Given the description of an element on the screen output the (x, y) to click on. 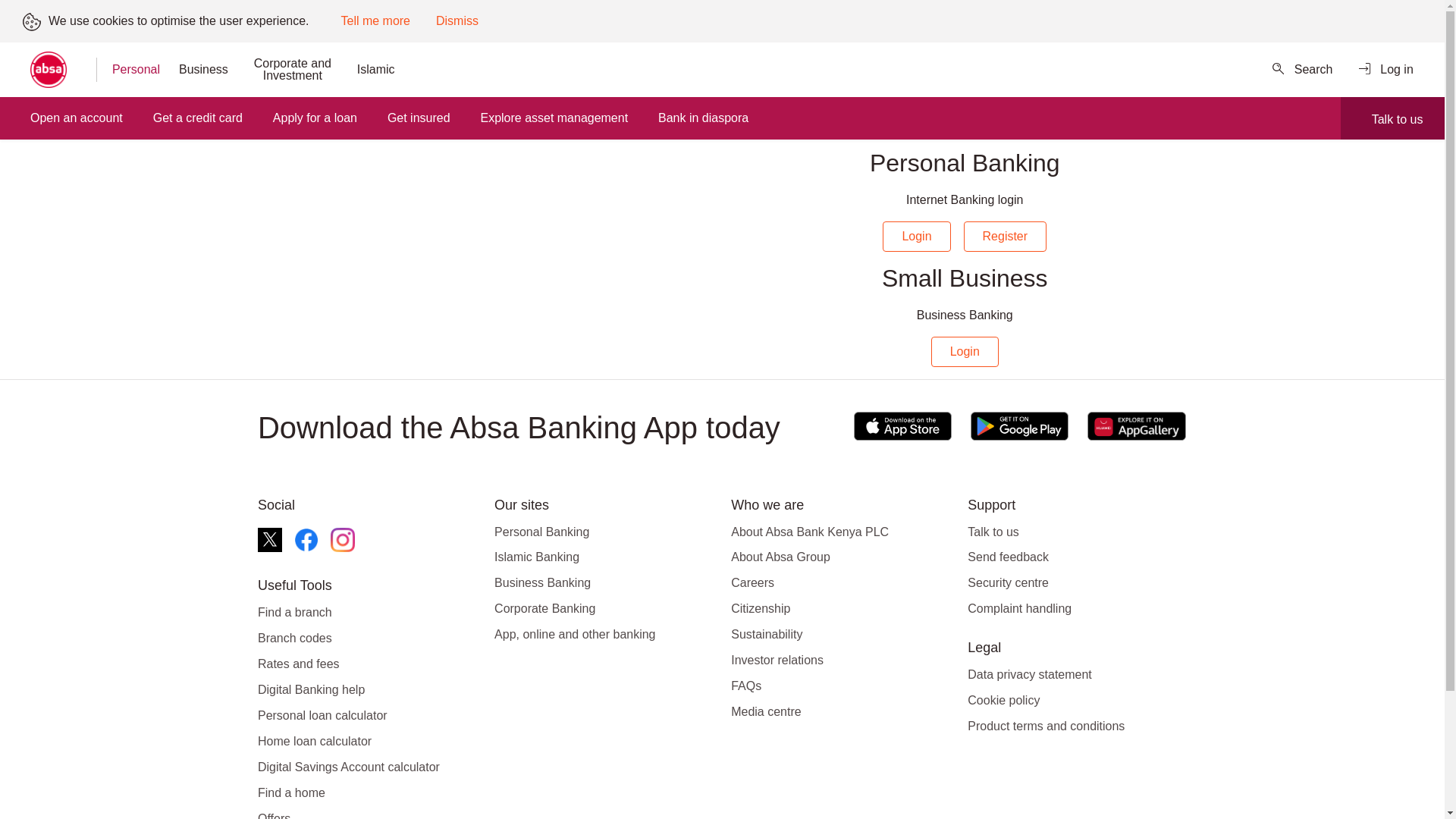
Islamic (376, 69)
Bank in diaspora (703, 117)
Get insured (418, 117)
Explore asset management (554, 117)
Explore asset management (554, 117)
Google Play Store Link (1019, 427)
Absa facebook (306, 539)
Business (203, 69)
Dismiss (456, 21)
Personal (132, 69)
